Given the description of an element on the screen output the (x, y) to click on. 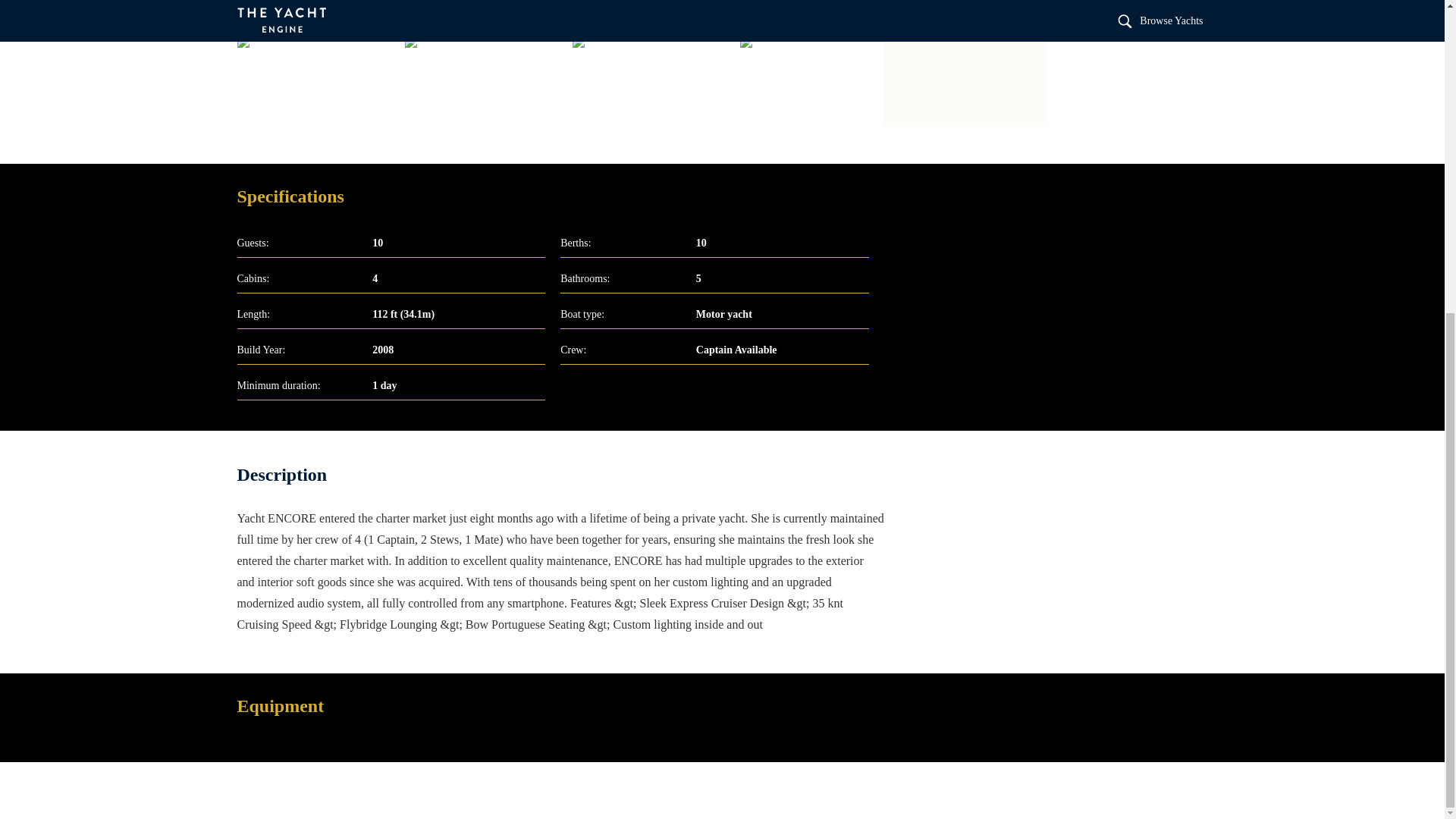
 The Yacht Engine (117, 12)
 The Yacht Engine (559, 12)
 The Yacht Engine (313, 81)
